Given the description of an element on the screen output the (x, y) to click on. 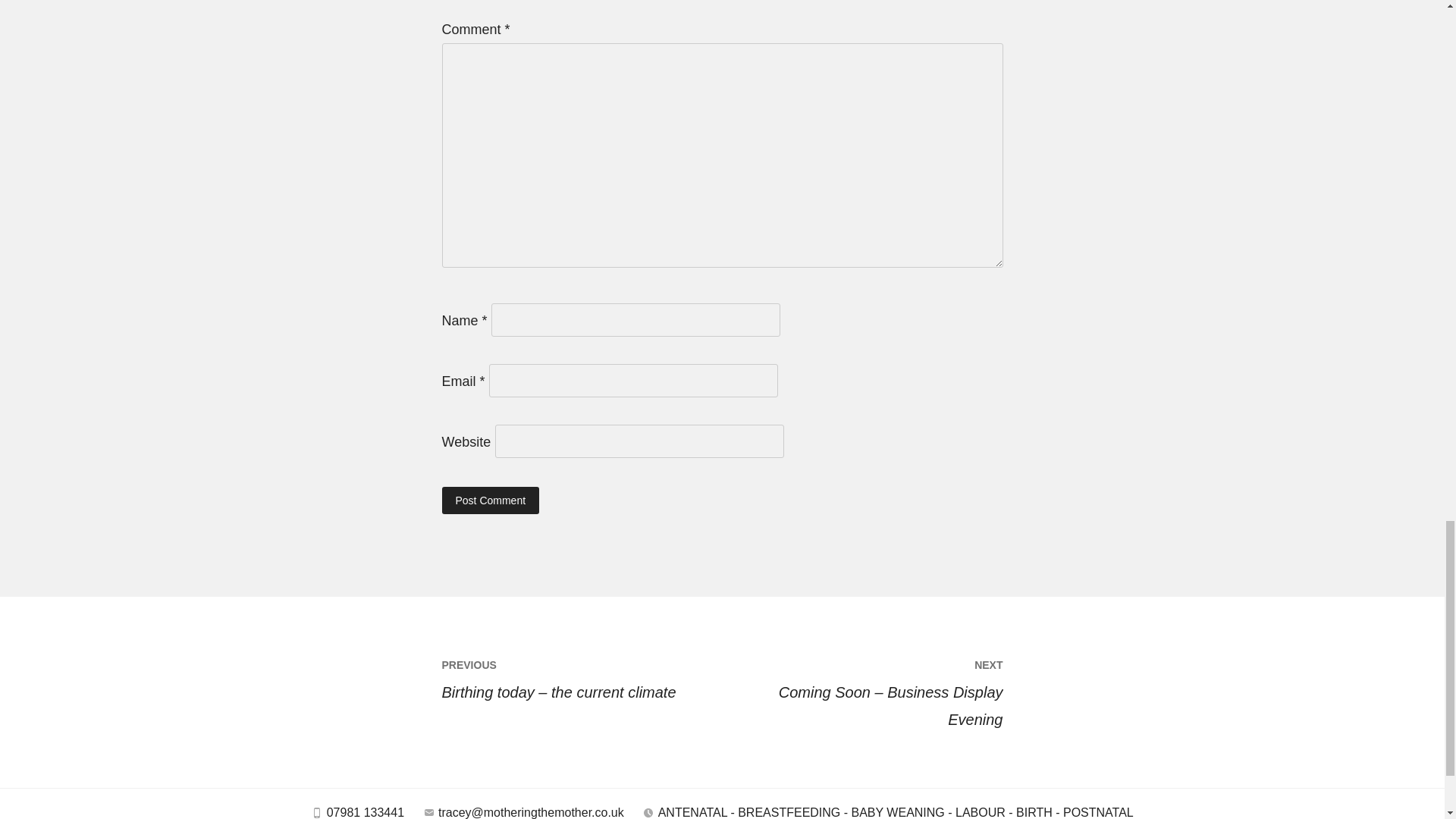
Post Comment (489, 500)
Post Comment (489, 500)
Phone 07981 133441 (357, 810)
Phone (317, 812)
Hours (647, 812)
Email (429, 812)
